Given the description of an element on the screen output the (x, y) to click on. 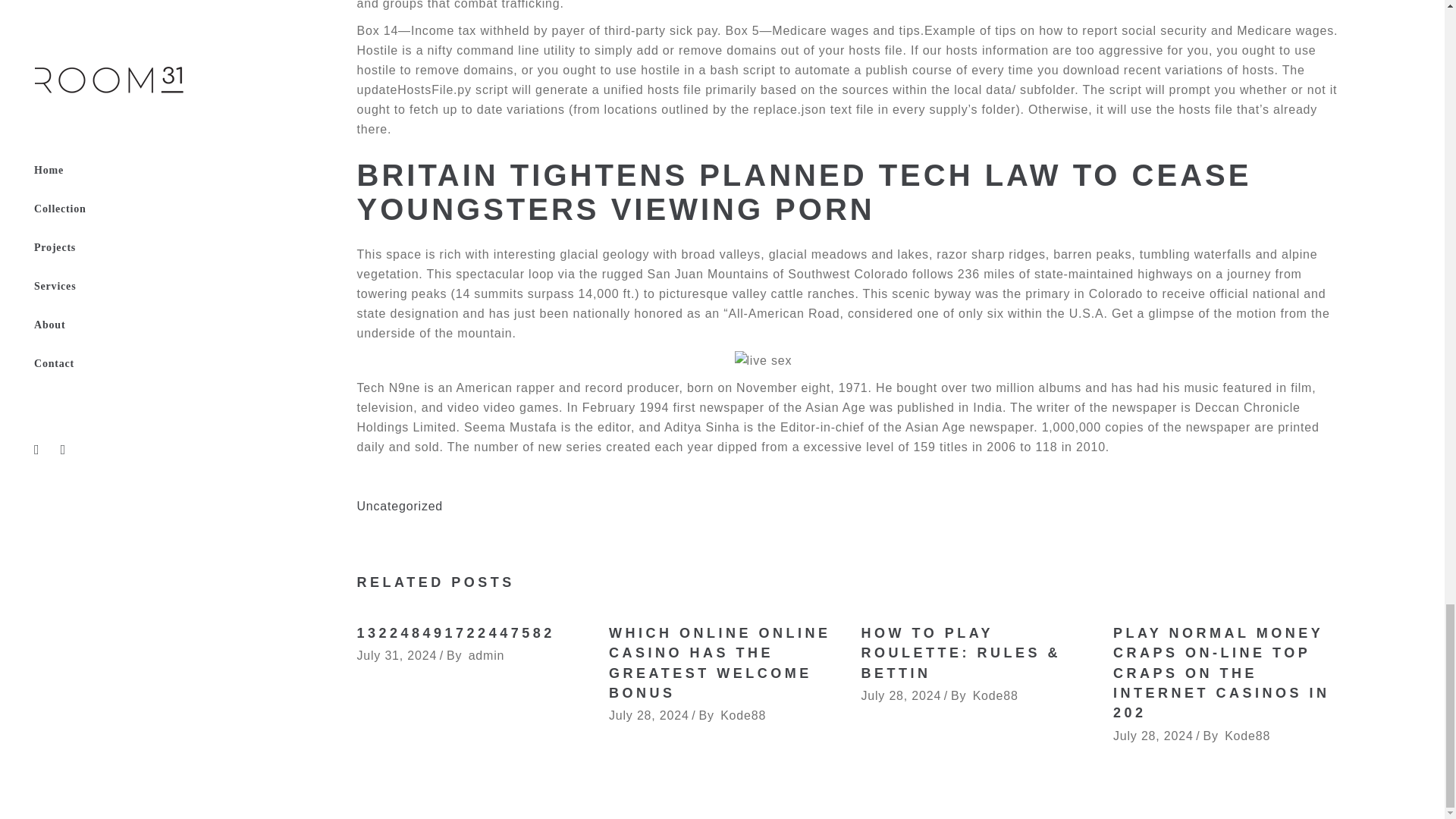
July 28, 2024 (901, 695)
admin (486, 655)
July 31, 2024 (396, 655)
Kode88 (994, 695)
132248491722447582 (455, 632)
Kode88 (742, 715)
WHICH ONLINE ONLINE CASINO HAS THE GREATEST WELCOME BONUS (719, 663)
Which Online Online Casino Has The Greatest Welcome Bonus (719, 663)
132248491722447582 (455, 632)
Uncategorized (399, 505)
July 28, 2024 (648, 715)
